Given the description of an element on the screen output the (x, y) to click on. 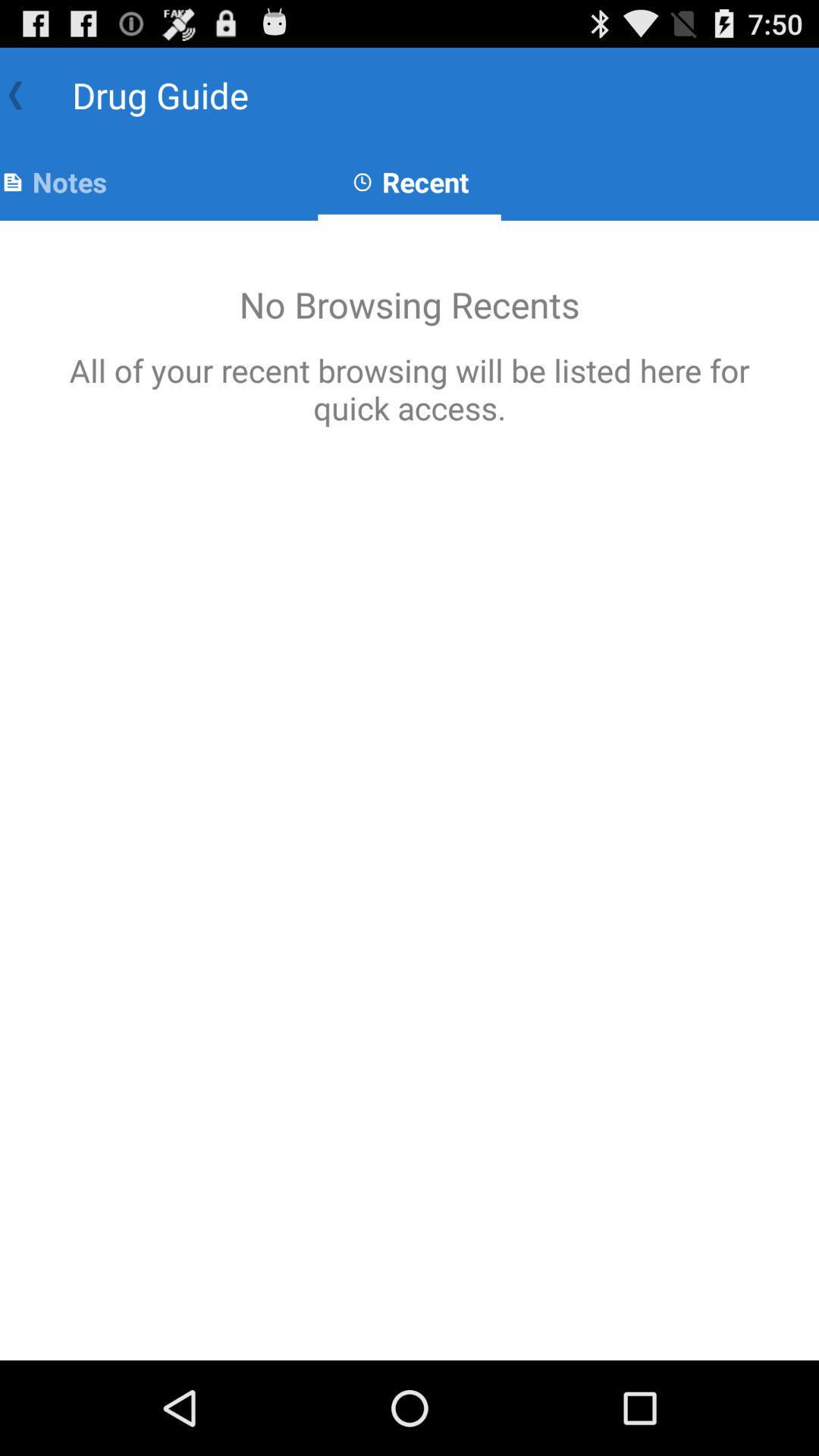
select the   notes (53, 181)
